Given the description of an element on the screen output the (x, y) to click on. 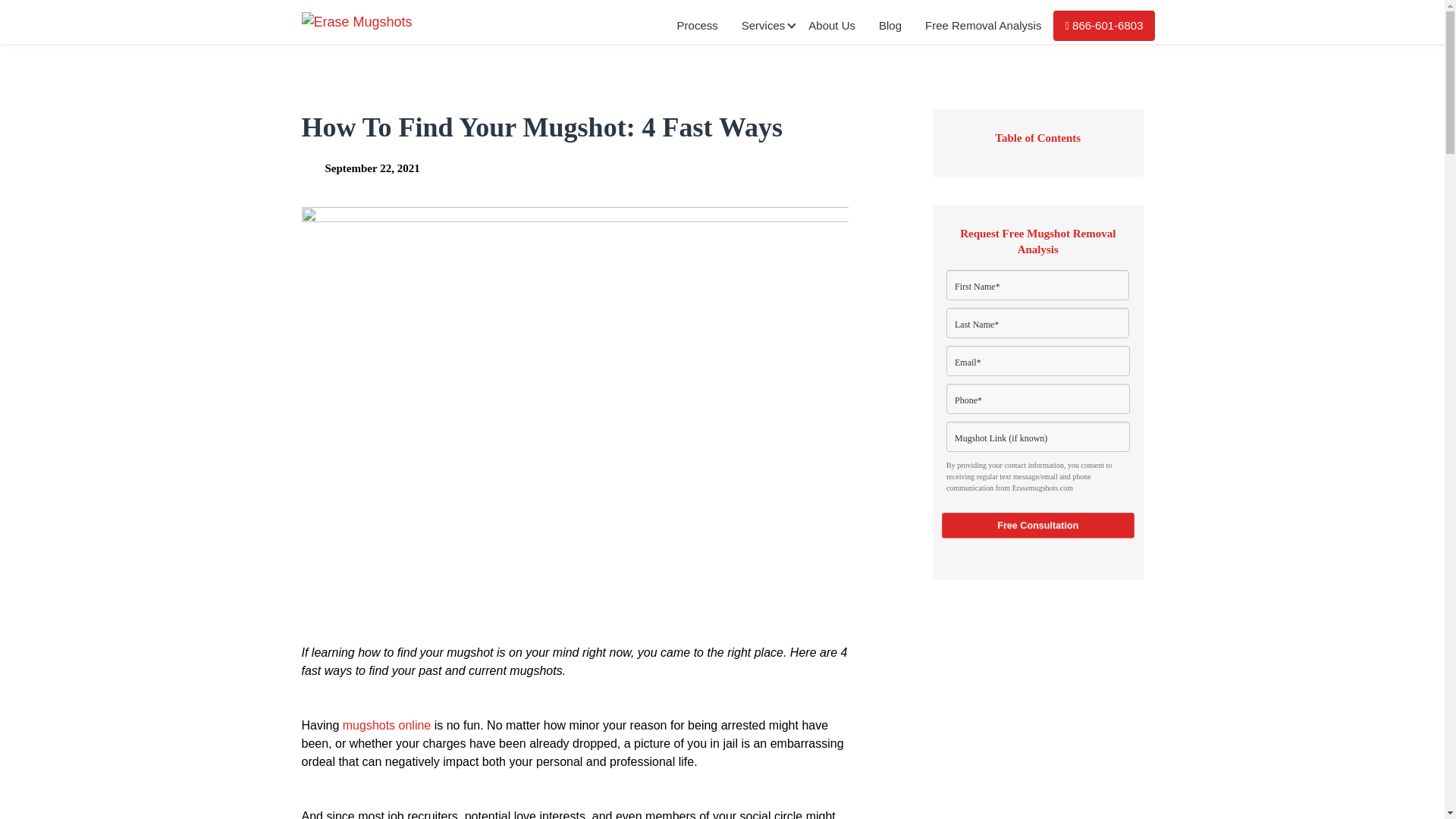
About Us (831, 25)
Free Removal Analysis (983, 25)
Free Consultation (1033, 524)
866-601-6803 (1103, 25)
Services (763, 25)
mugshots online (386, 725)
Process (697, 25)
Blog (889, 25)
